Given the description of an element on the screen output the (x, y) to click on. 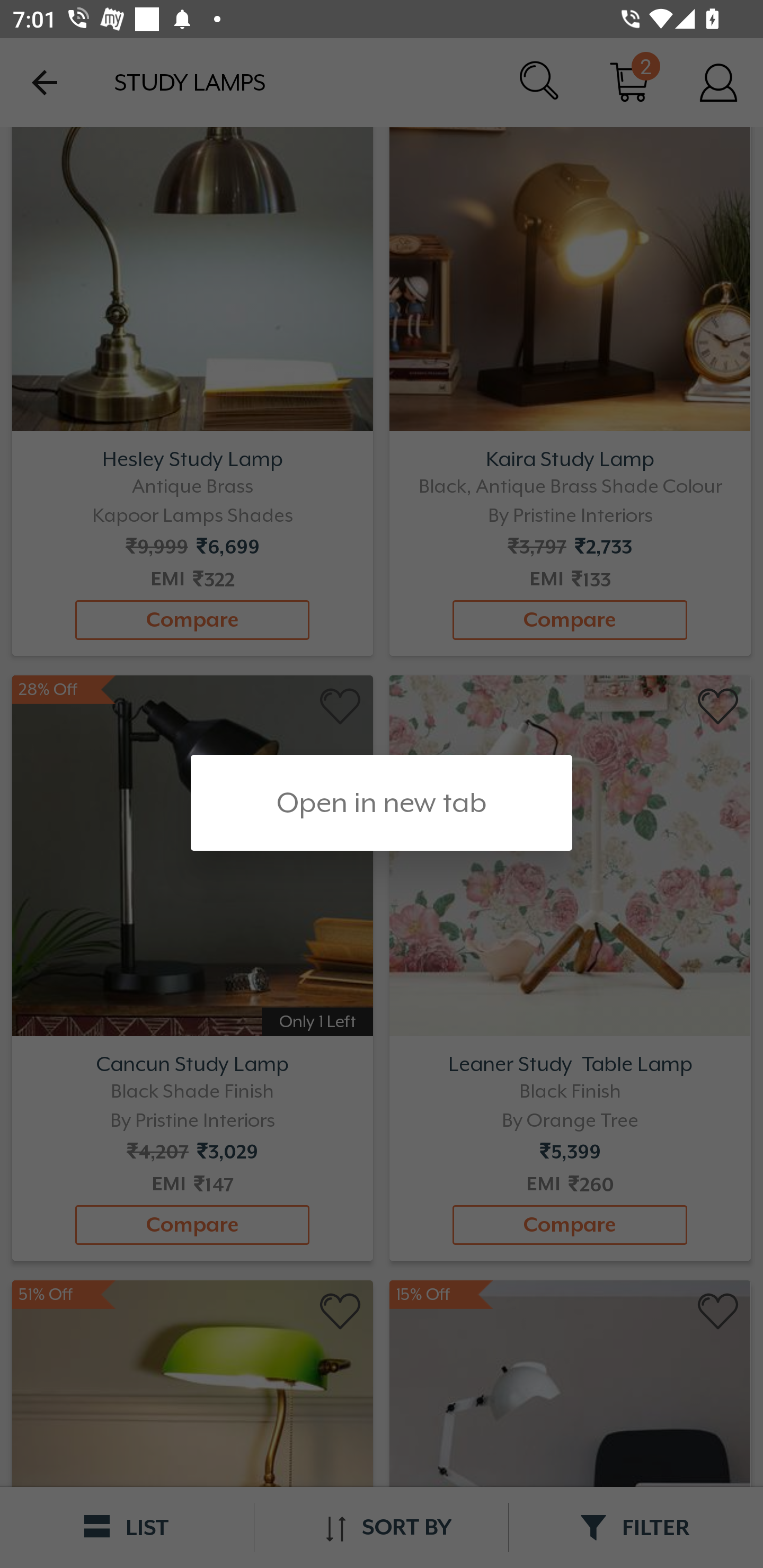
Open in new tab (381, 802)
